Given the description of an element on the screen output the (x, y) to click on. 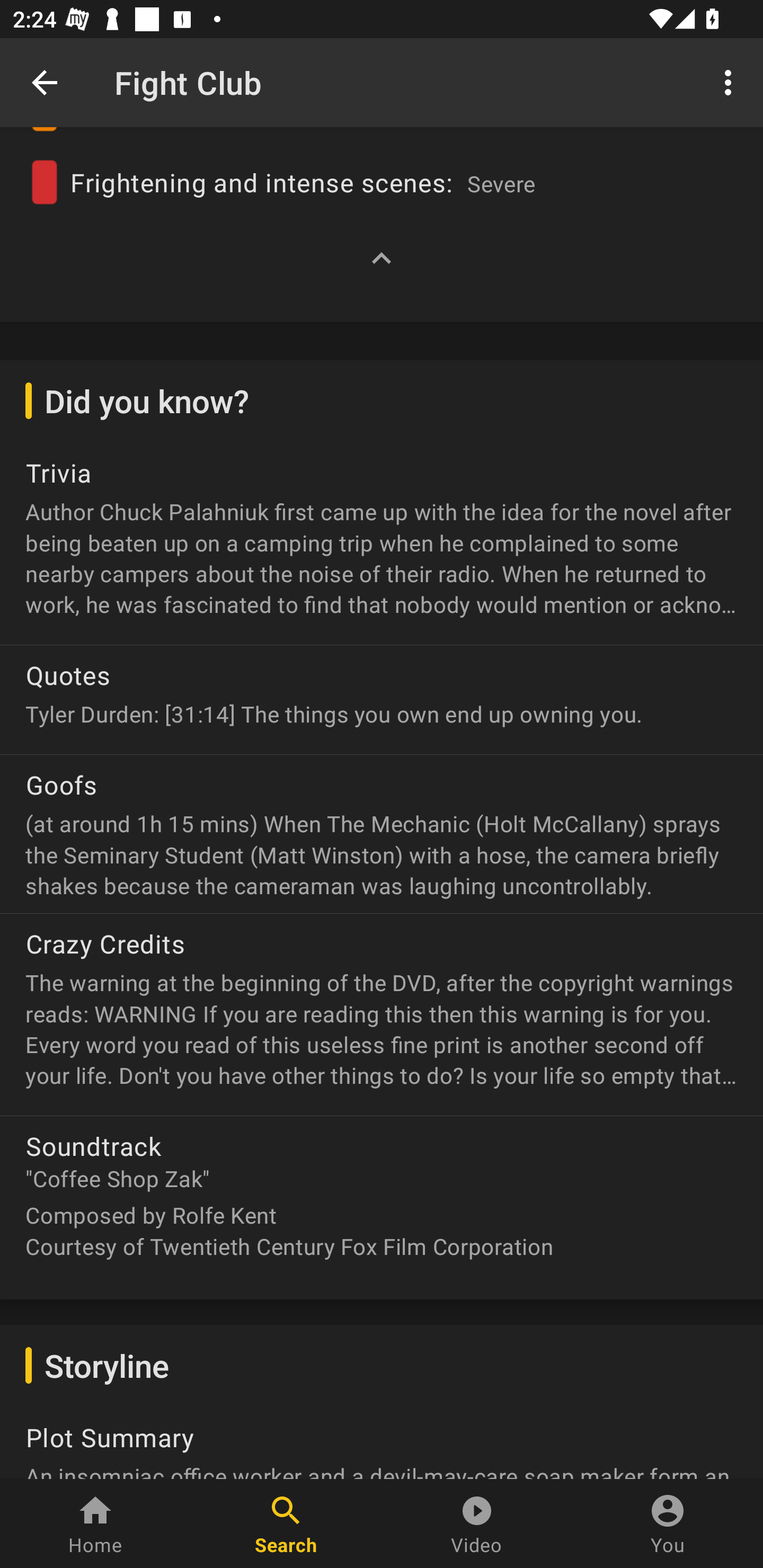
More options (731, 81)
Frightening and intense scenes:  Severe (381, 174)
Home (95, 1523)
Video (476, 1523)
You (667, 1523)
